Given the description of an element on the screen output the (x, y) to click on. 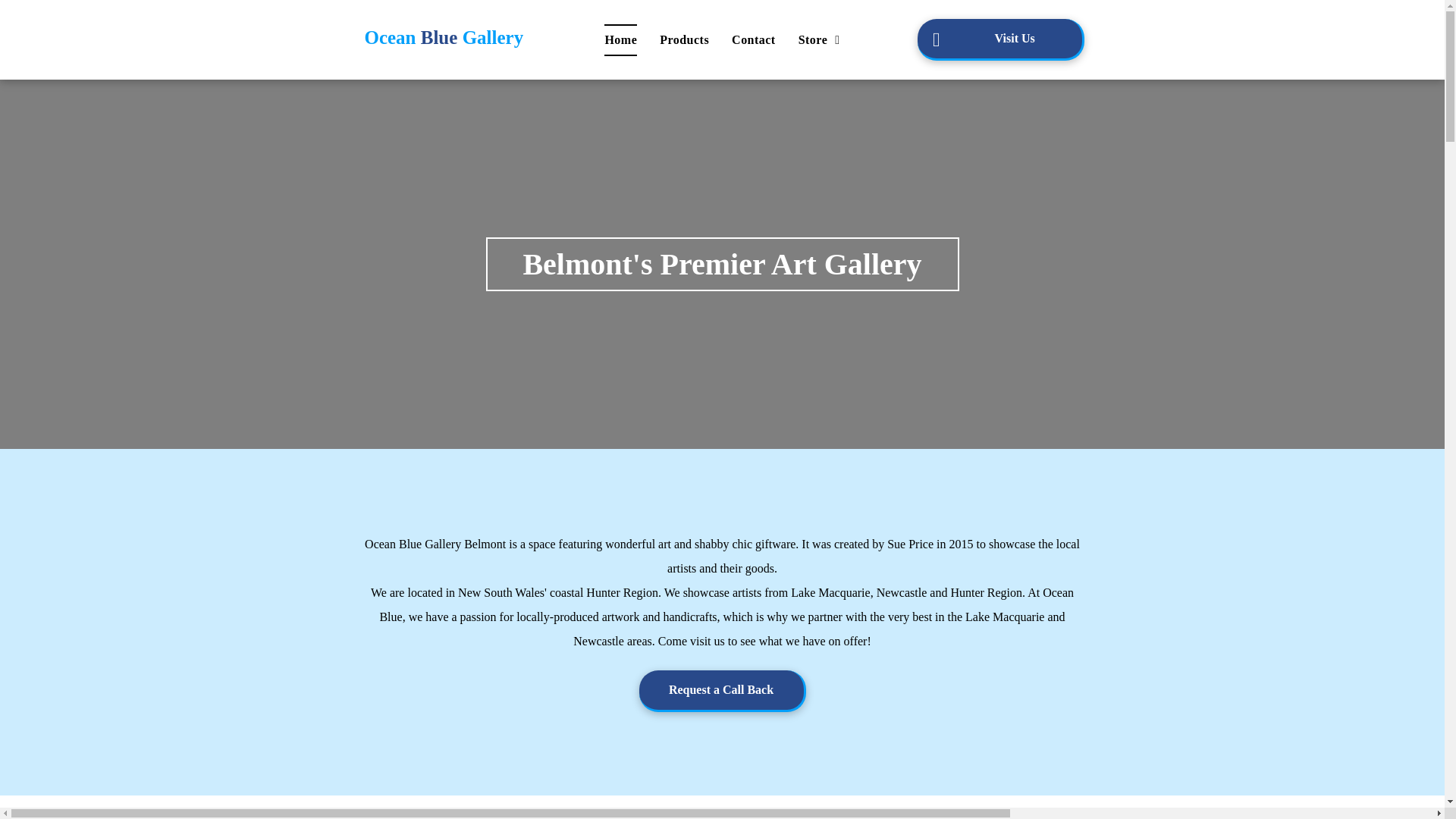
Contact Element type: text (753, 40)
Store Element type: text (819, 40)
Request a Call Back Element type: text (721, 691)
Gallery Element type: text (493, 37)
Visit Us Element type: text (1000, 39)
Products Element type: text (684, 40)
Home Element type: text (620, 40)
Blue Element type: text (439, 37)
Ocean Element type: text (389, 37)
